Given the description of an element on the screen output the (x, y) to click on. 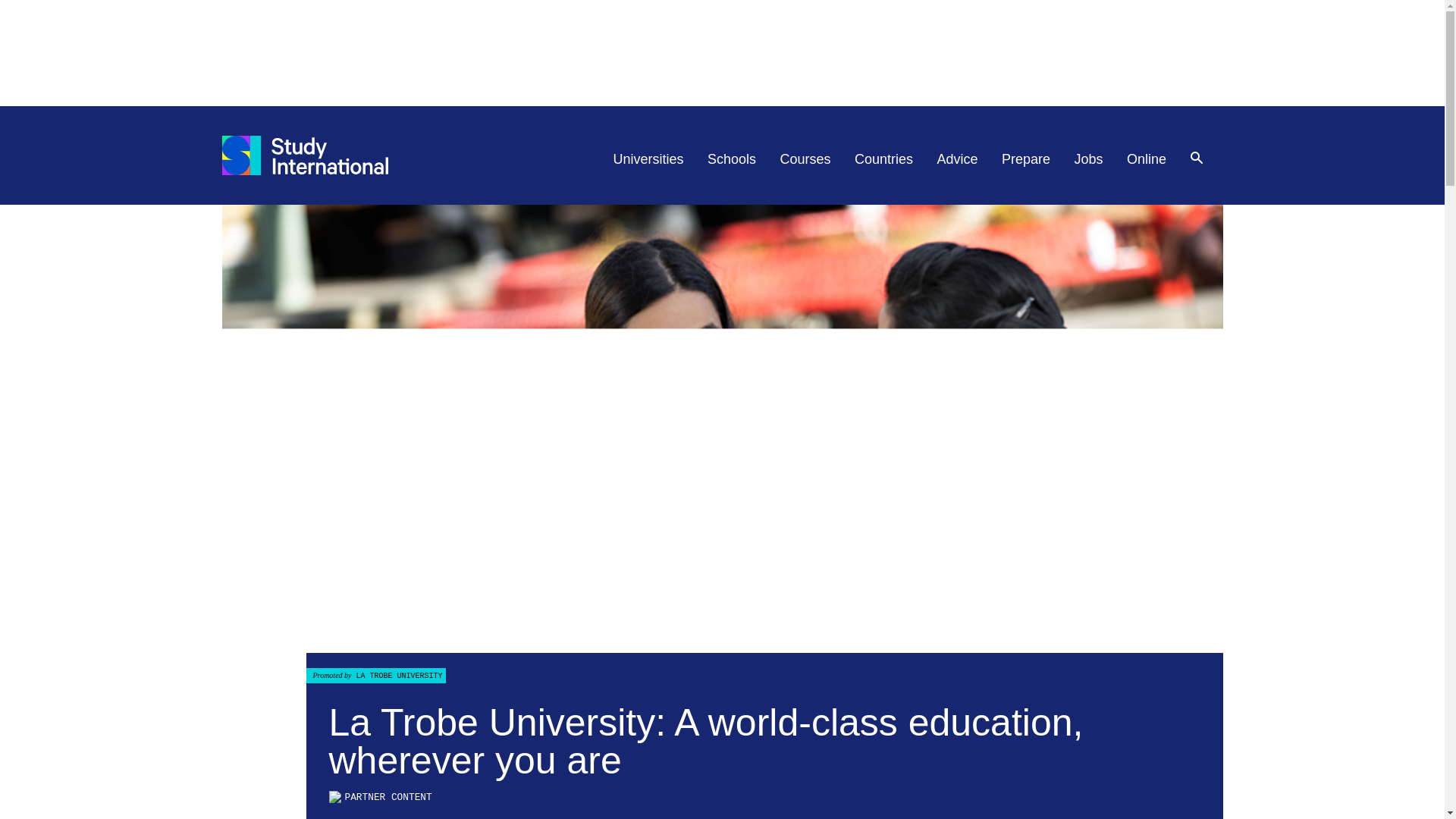
Advice (957, 159)
Online (1146, 159)
Schools (731, 159)
Countries (883, 159)
Universities (648, 159)
Jobs (1088, 159)
Courses (805, 159)
Prepare (1025, 159)
